Given the description of an element on the screen output the (x, y) to click on. 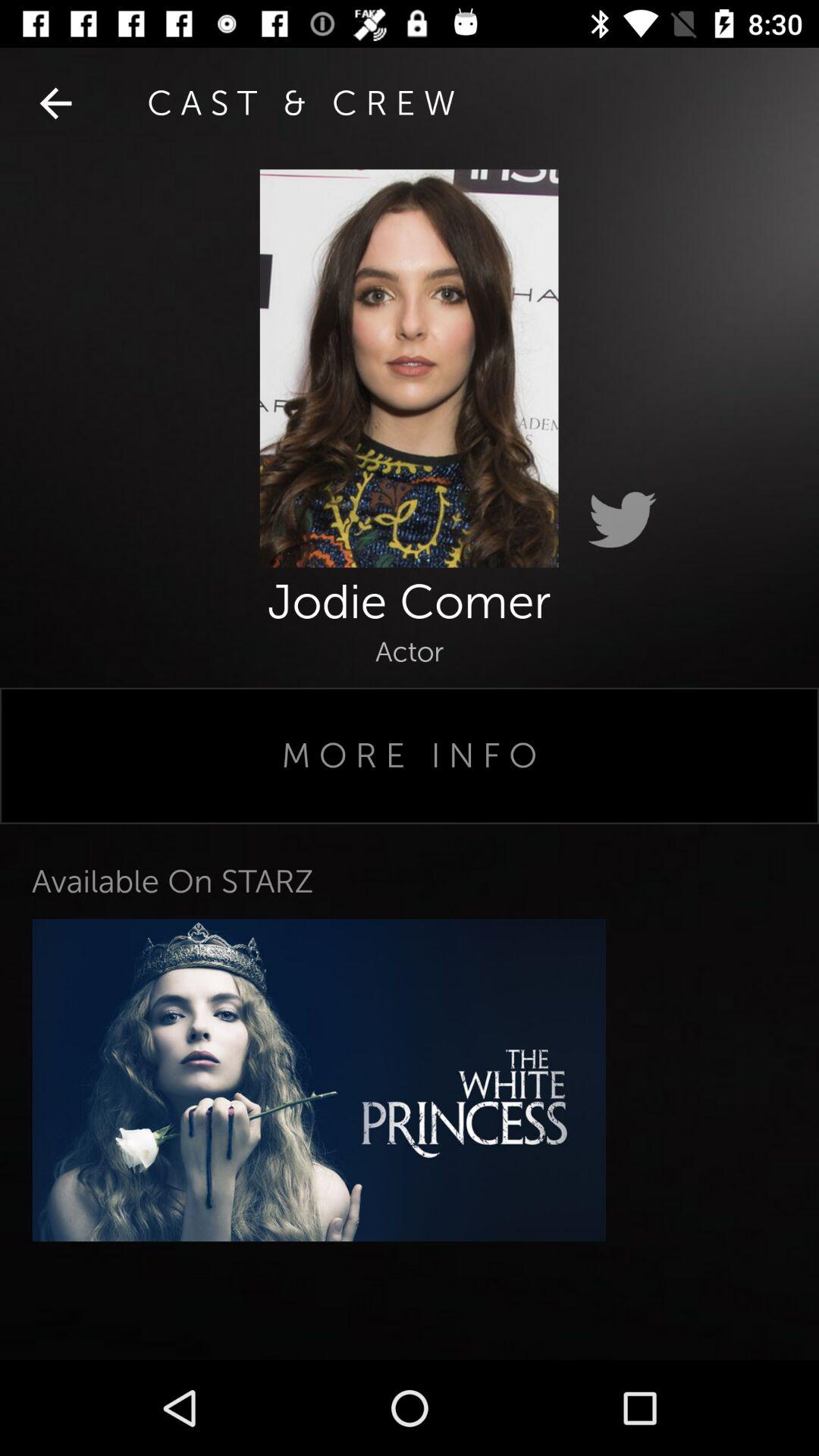
open the icon below the actor item (409, 755)
